Given the description of an element on the screen output the (x, y) to click on. 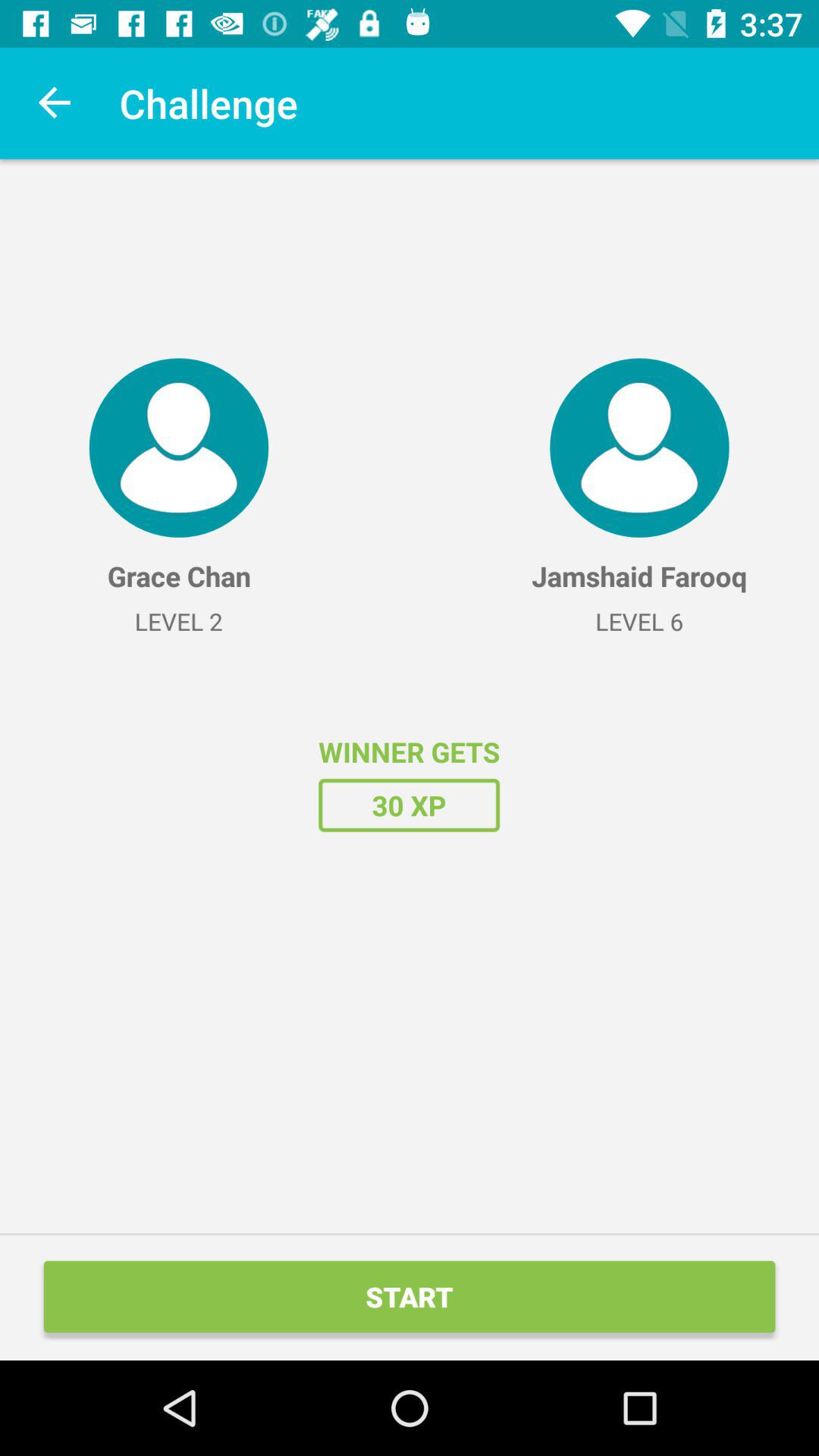
launch icon above jamshaid farooq icon (639, 447)
